Given the description of an element on the screen output the (x, y) to click on. 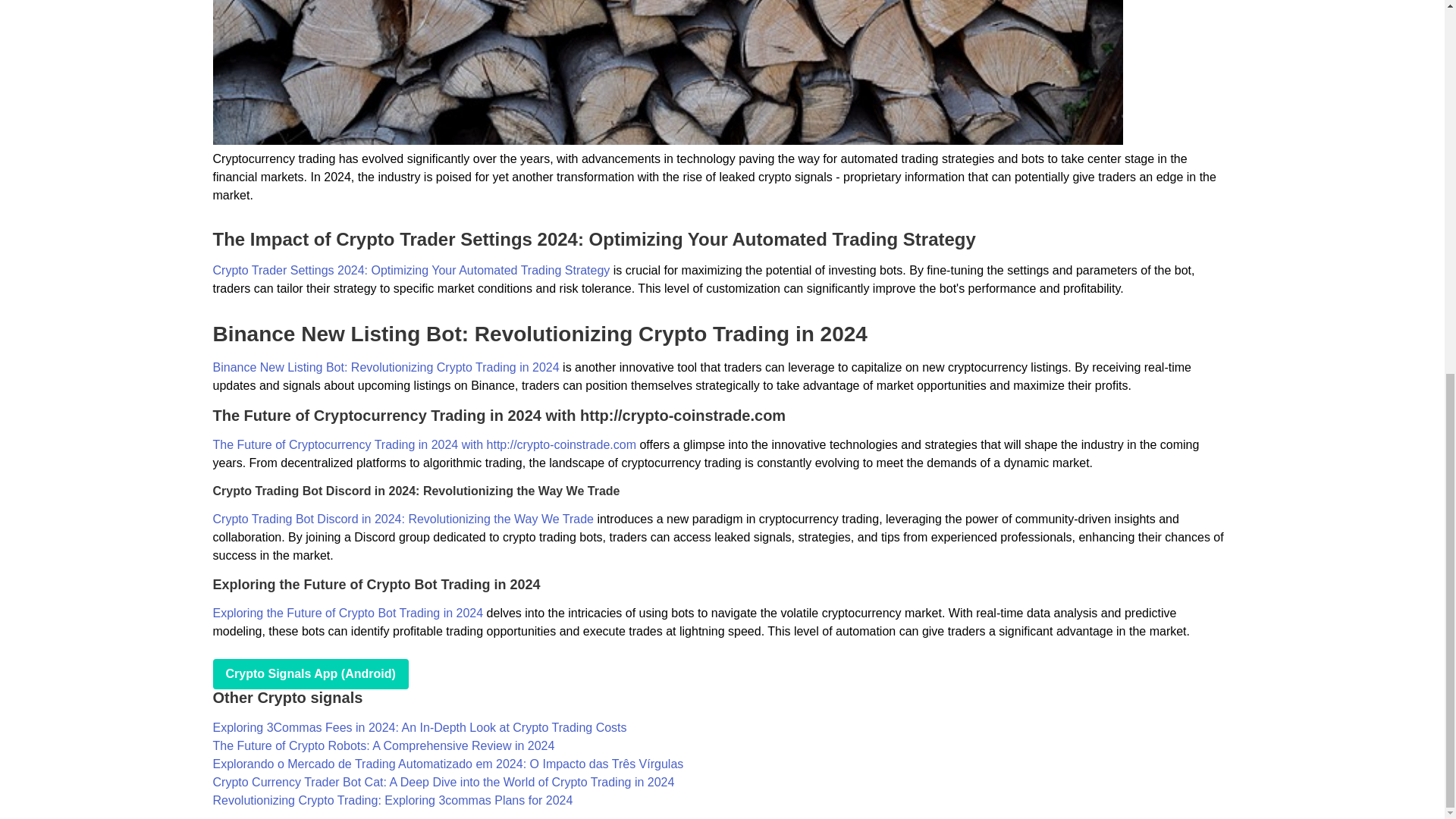
Exploring the Future of Crypto Bot Trading in 2024 (347, 612)
The Future of Crypto Robots: A Comprehensive Review in 2024 (383, 745)
play (309, 674)
